Given the description of an element on the screen output the (x, y) to click on. 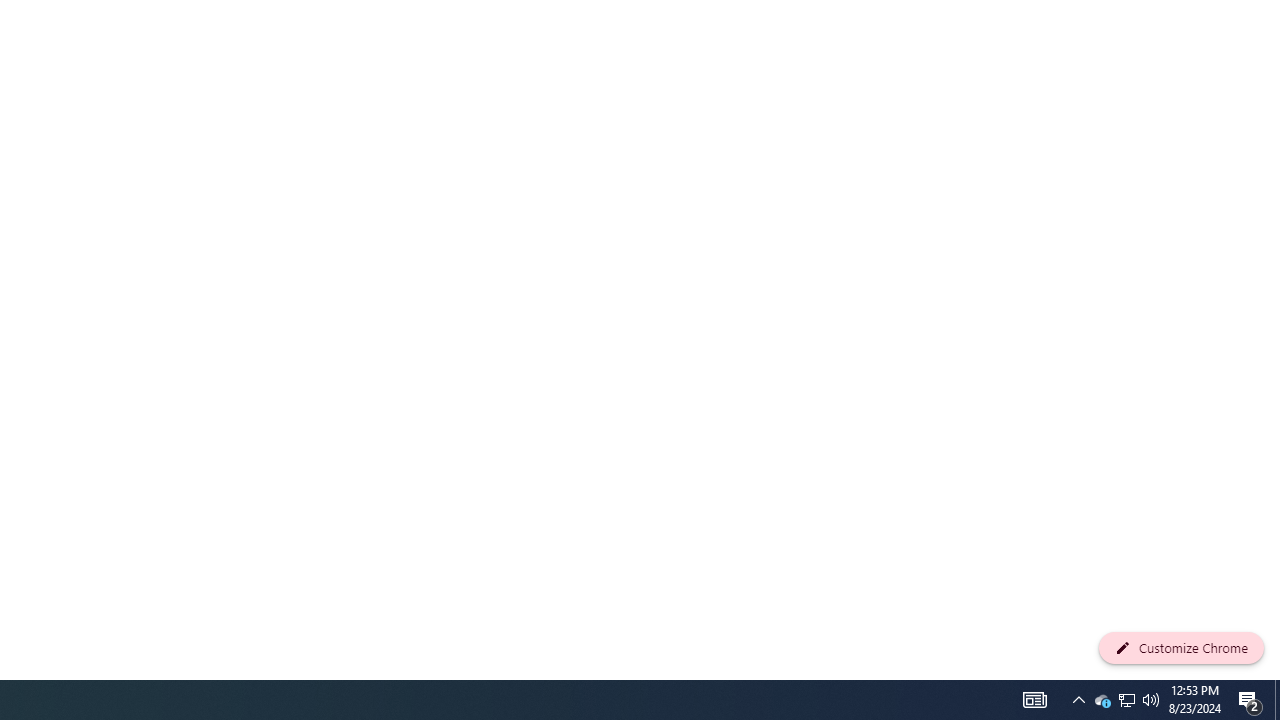
Customize Chrome (1181, 647)
